Given the description of an element on the screen output the (x, y) to click on. 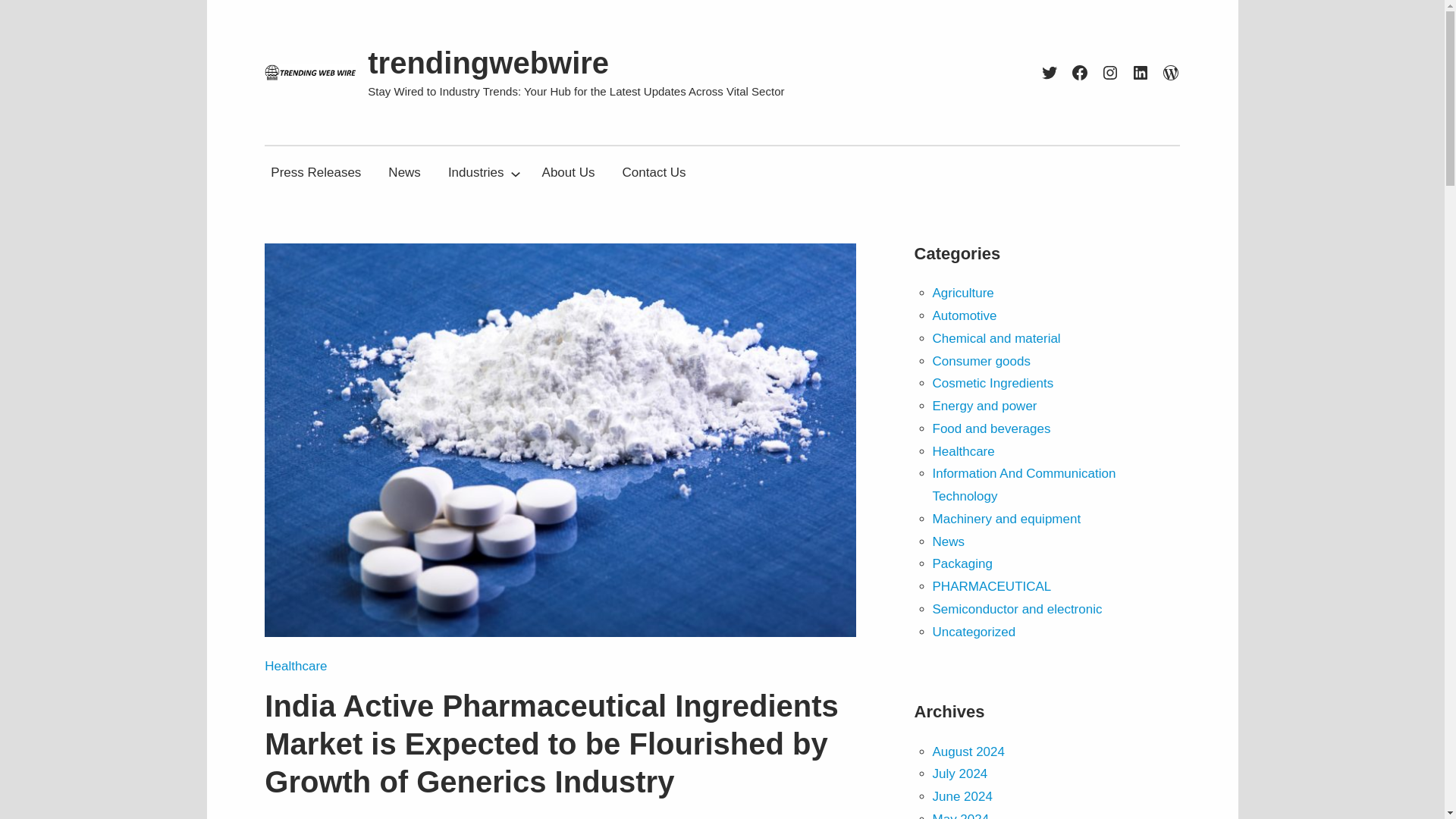
trendingwebwire (488, 62)
Press Releases (315, 172)
Facebook (1079, 72)
Contact Us (654, 172)
Twitter (1049, 72)
WordPress (1170, 72)
Healthcare (295, 666)
LinkedIn (1140, 72)
Industries (476, 172)
About Us (568, 172)
